Given the description of an element on the screen output the (x, y) to click on. 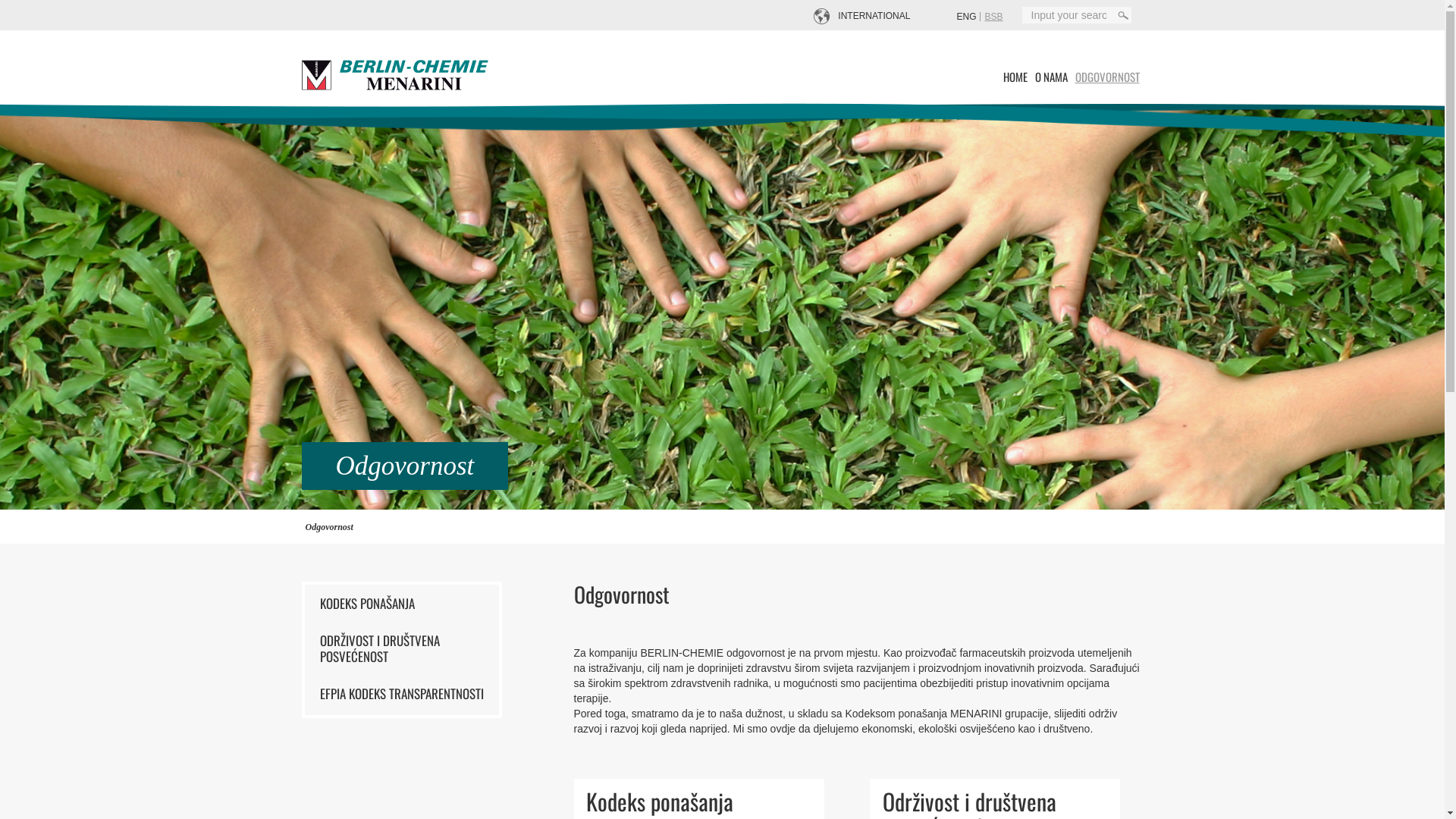
EFPIA KODEKS TRANSPARENTNOSTI Element type: text (401, 693)
Odgovornost Element type: text (329, 526)
INTERNATIONAL Element type: text (875, 15)
HOME Element type: text (1015, 76)
ODGOVORNOST Element type: text (1106, 76)
Berlin-Chemie Bosnia Element type: hover (395, 73)
BSB Element type: text (992, 16)
search input Element type: hover (1068, 14)
ENG Element type: text (965, 16)
O NAMA Element type: text (1051, 76)
